Given the description of an element on the screen output the (x, y) to click on. 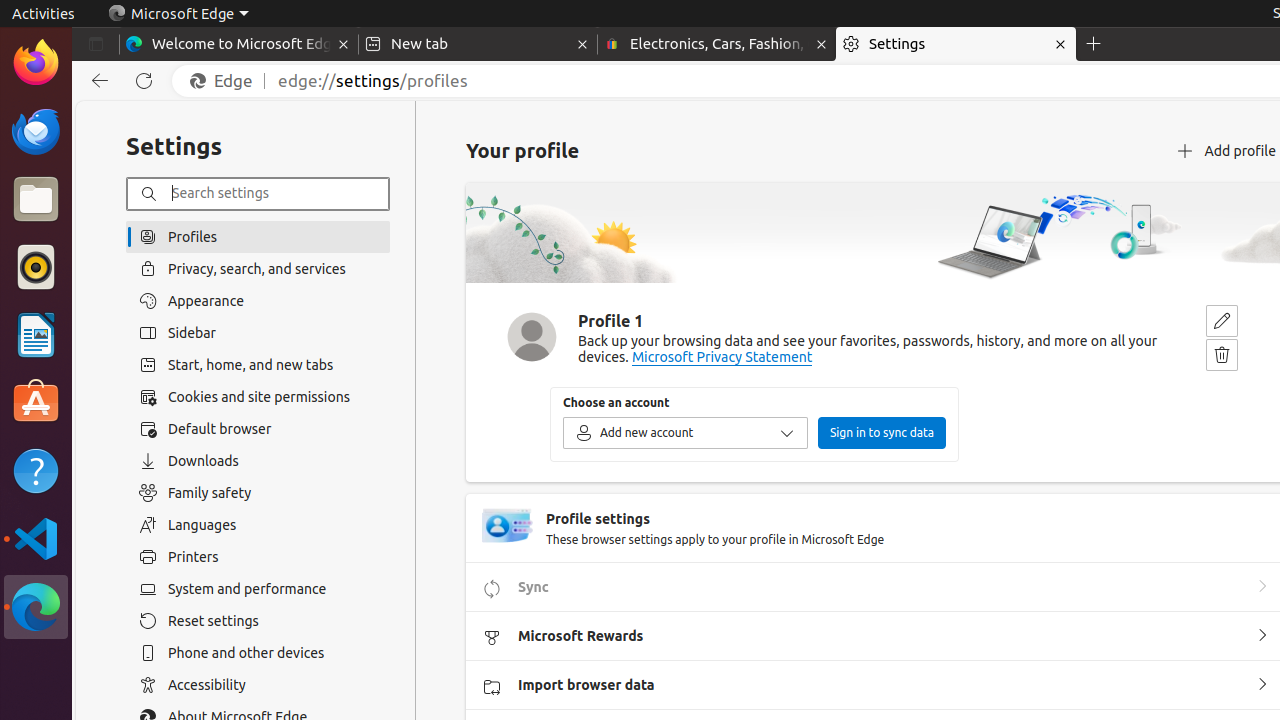
Profiles Element type: tree-item (258, 236)
Microsoft Rewards Element type: push-button (1262, 636)
